Given the description of an element on the screen output the (x, y) to click on. 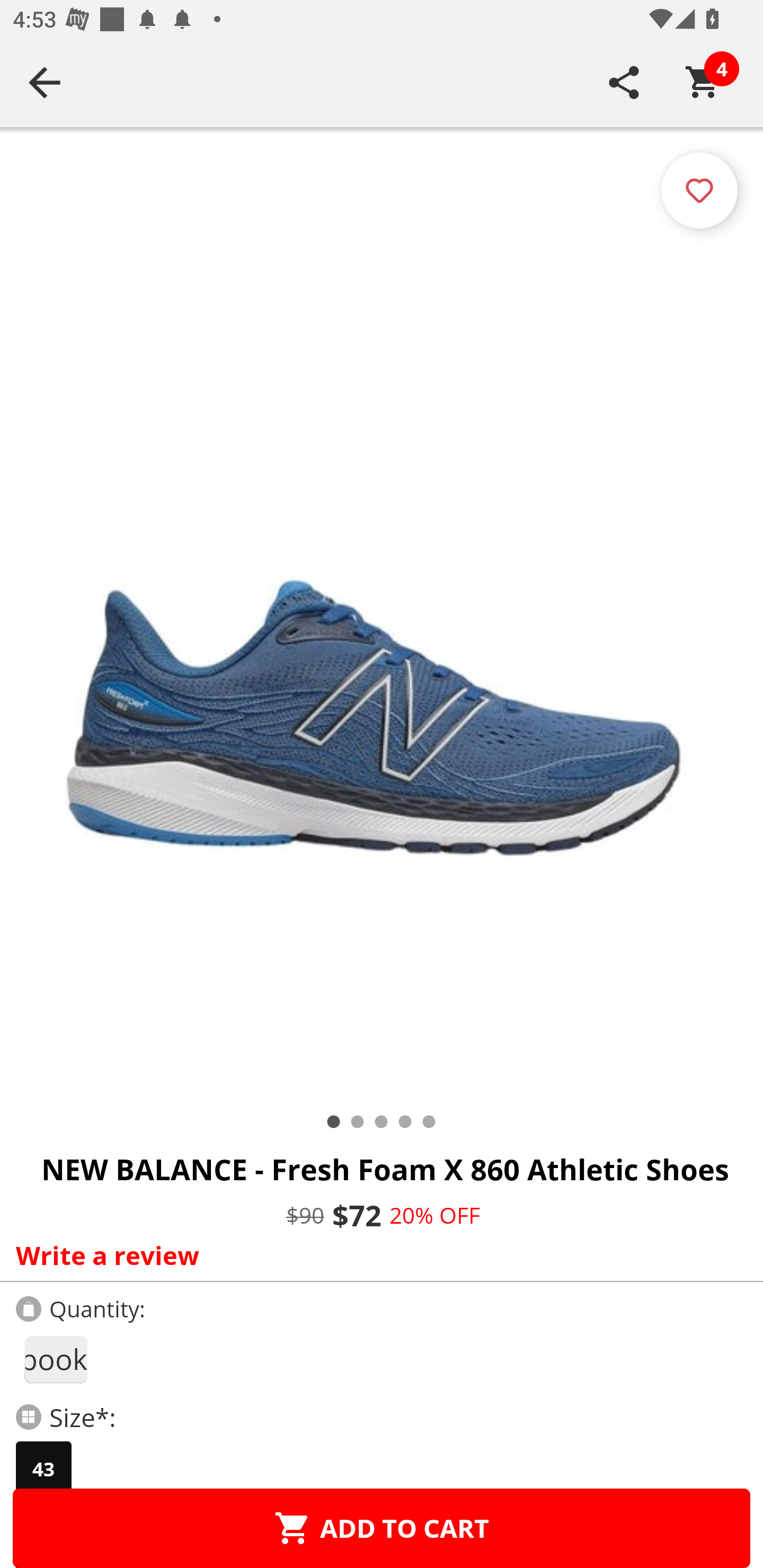
Navigate up (44, 82)
SHARE (623, 82)
Cart (703, 81)
Write a review (377, 1255)
1lamptissuenotebook (55, 1358)
43 (43, 1468)
ADD TO CART (381, 1528)
